Given the description of an element on the screen output the (x, y) to click on. 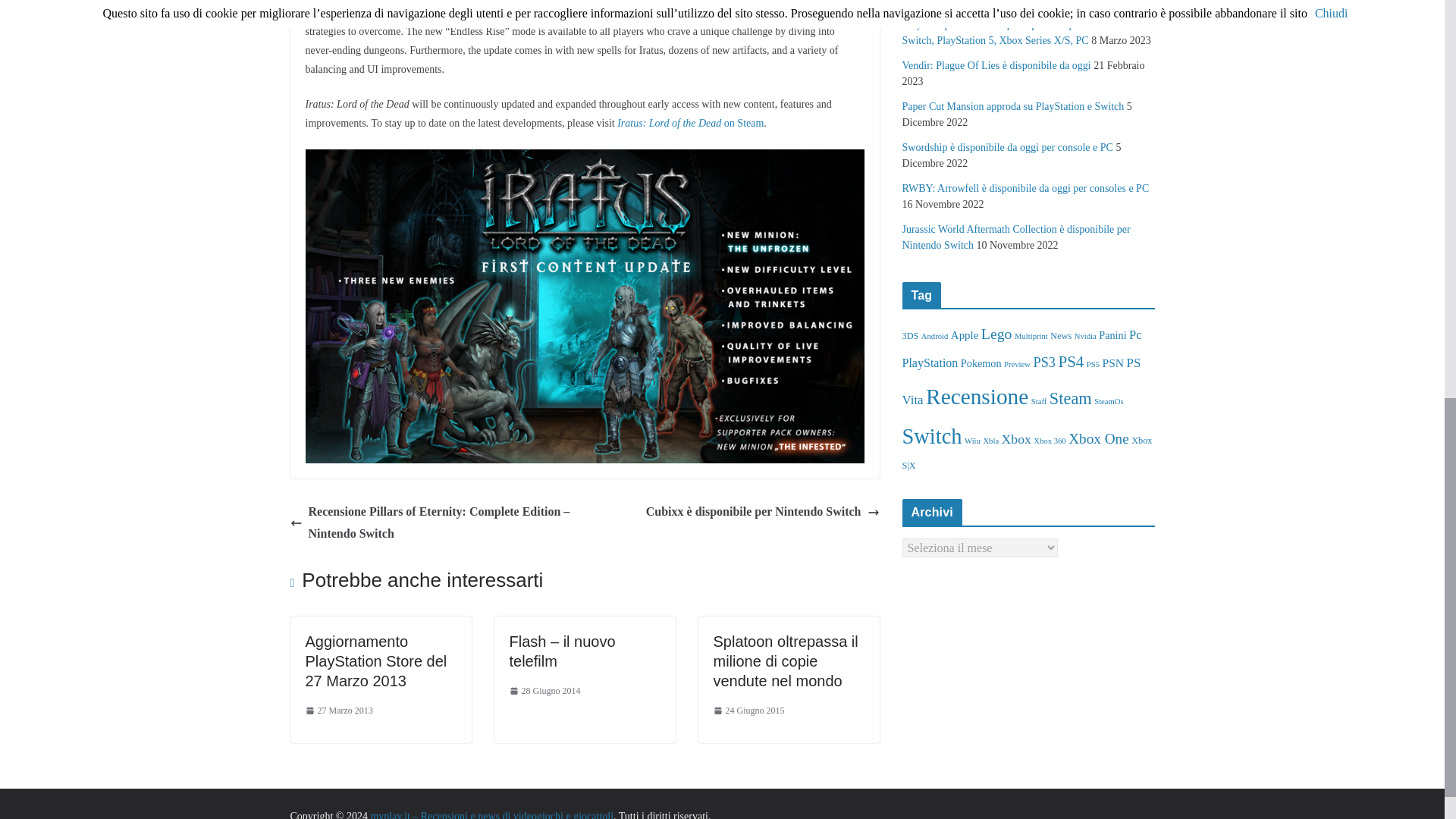
Iratus: Lord of the Dead on Steam (689, 122)
Aggiornamento PlayStation Store del 27 Marzo 2013 (375, 661)
Splatoon oltrepassa il milione di copie vendute nel mondo (785, 661)
21:35 (338, 710)
Aggiornamento PlayStation Store del 27 Marzo 2013 (375, 661)
28 Giugno 2014 (544, 691)
22:39 (544, 691)
24 Giugno 2015 (748, 710)
Splatoon oltrepassa il milione di copie vendute nel mondo (785, 661)
10:53 (748, 710)
